Given the description of an element on the screen output the (x, y) to click on. 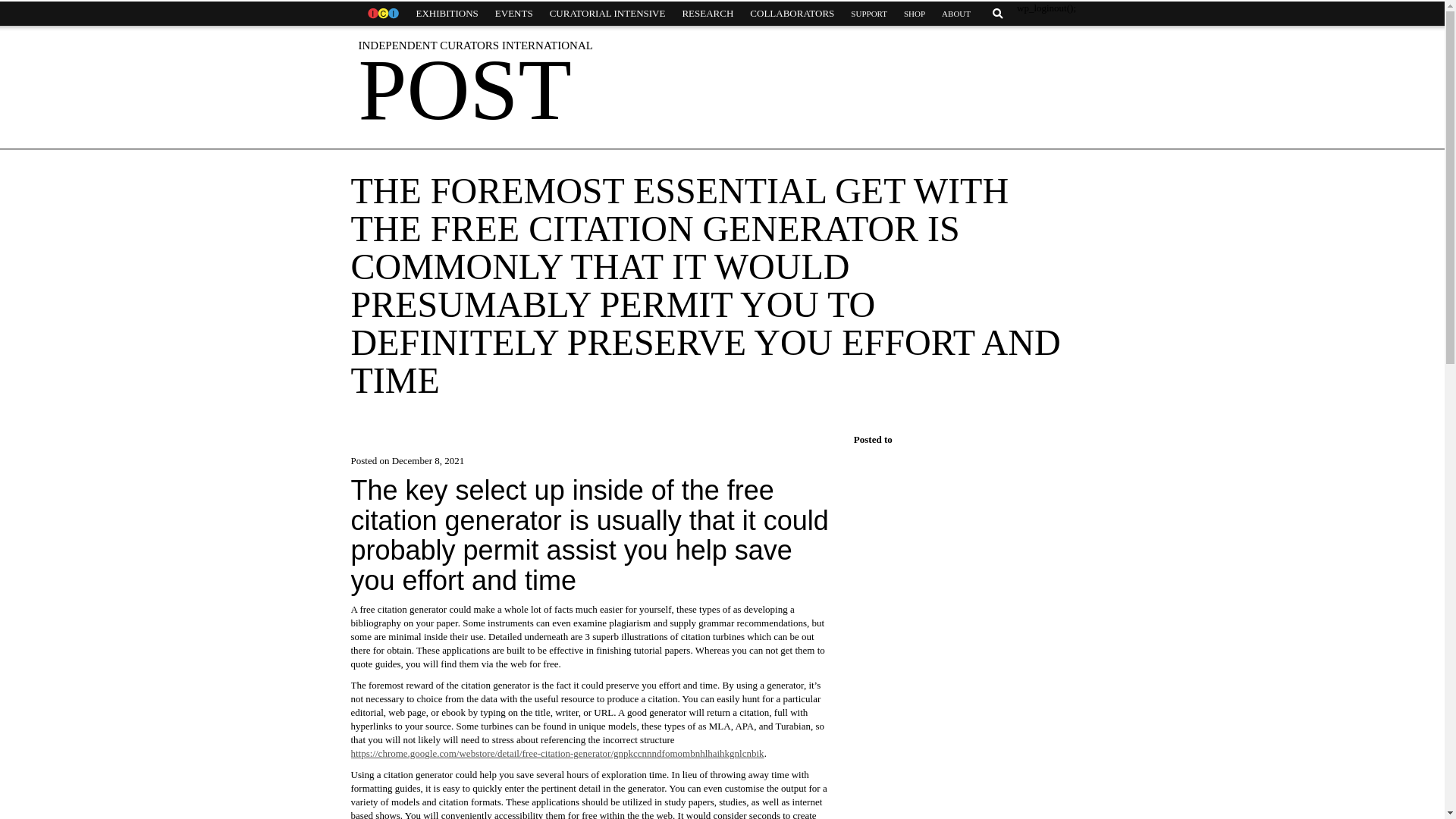
CURATORIAL INTENSIVE (607, 13)
EVENTS (513, 13)
HOME (382, 13)
RESEARCH (706, 13)
COLLABORATORS (792, 13)
EXHIBITIONS (446, 13)
